Given the description of an element on the screen output the (x, y) to click on. 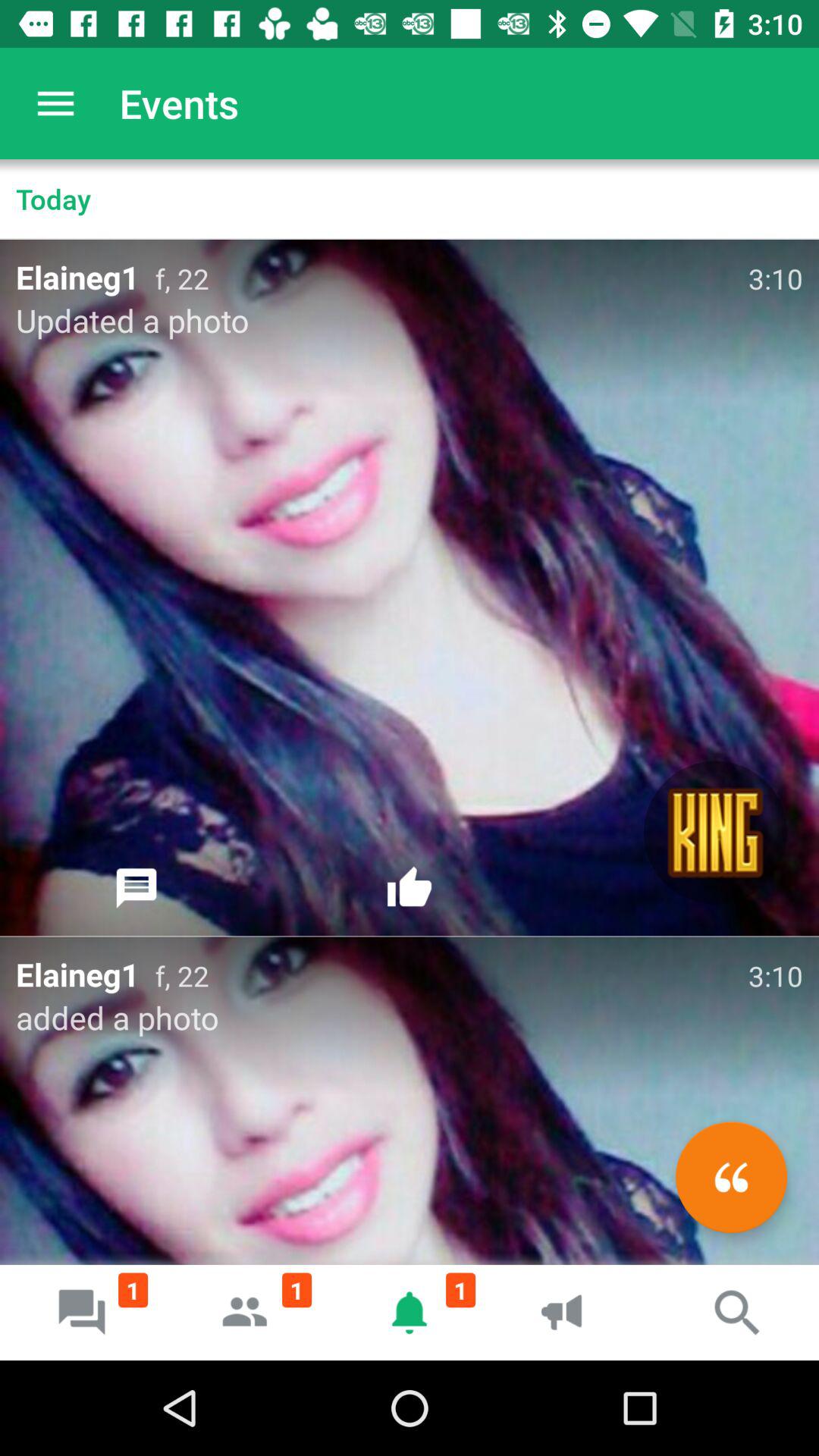
comment button (136, 888)
